Given the description of an element on the screen output the (x, y) to click on. 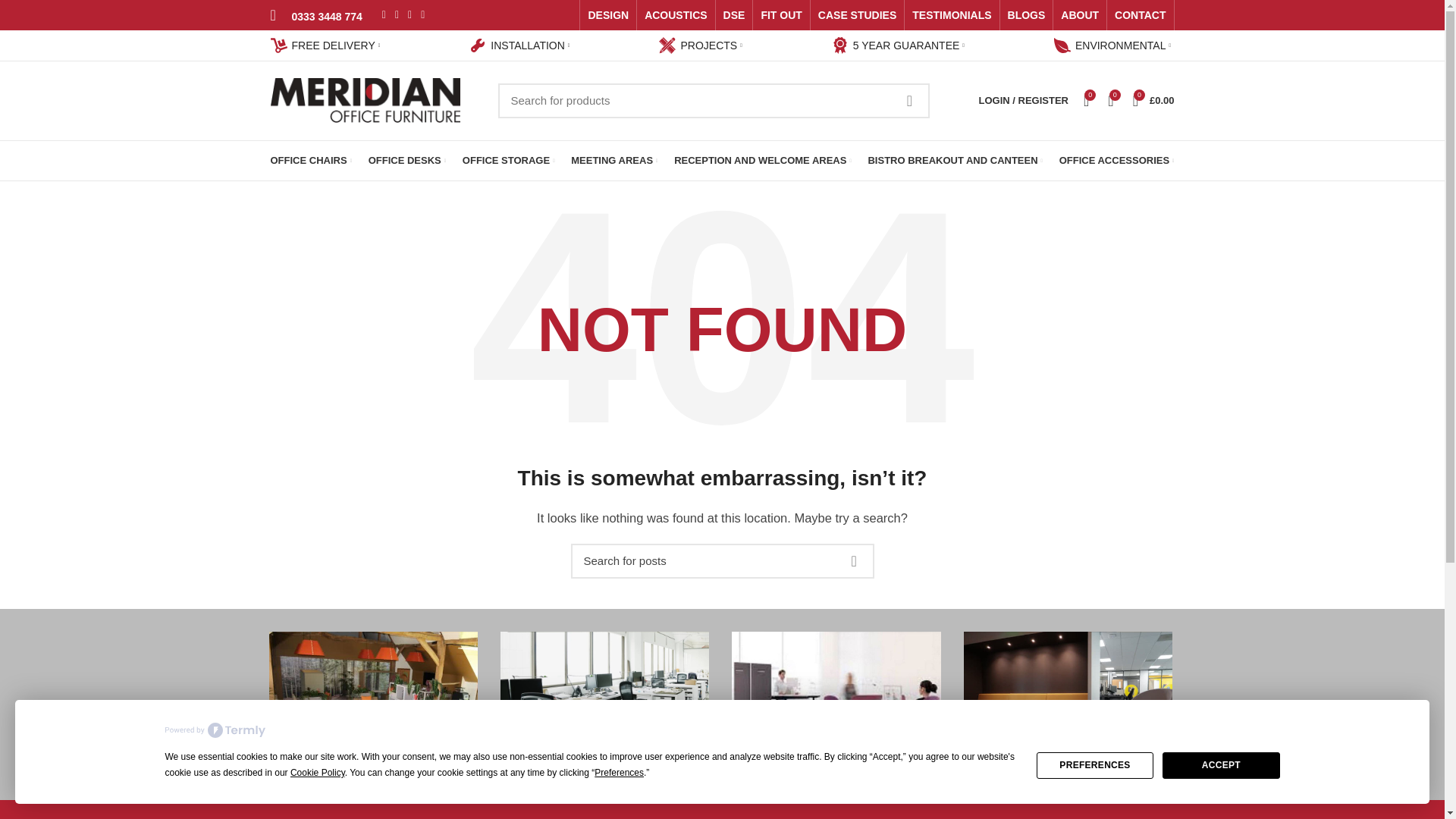
CONTACT (1139, 15)
OFFICE DESKS (406, 160)
TESTIMONIALS (951, 15)
CASE STUDIES (857, 15)
PREFERENCES (1094, 765)
SEARCH (908, 100)
My account (1023, 100)
ACCEPT (1220, 765)
OFFICE CHAIRS (310, 160)
DESIGN (607, 15)
Search for products (712, 100)
DSE (734, 15)
Search for posts (721, 560)
ACOUSTICS (675, 15)
ABOUT (1079, 15)
